Given the description of an element on the screen output the (x, y) to click on. 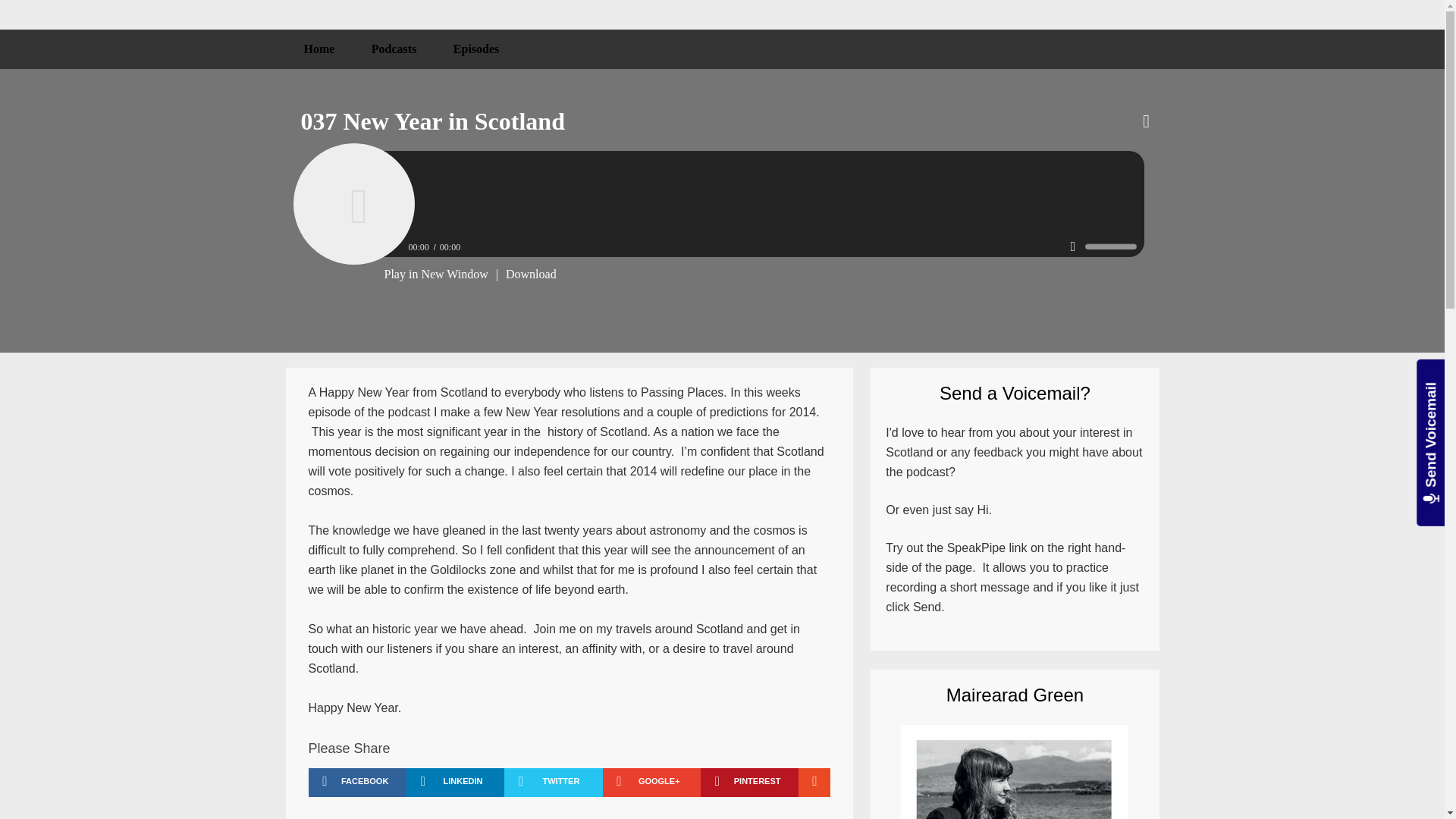
TWITTER (552, 782)
Download (530, 273)
PINTEREST (748, 782)
Download Podcast Episode (530, 273)
Home (318, 48)
Episodes (475, 48)
Play in New Window (435, 273)
FACEBOOK (356, 782)
LINKEDIN (454, 782)
Play (352, 203)
